Given the description of an element on the screen output the (x, y) to click on. 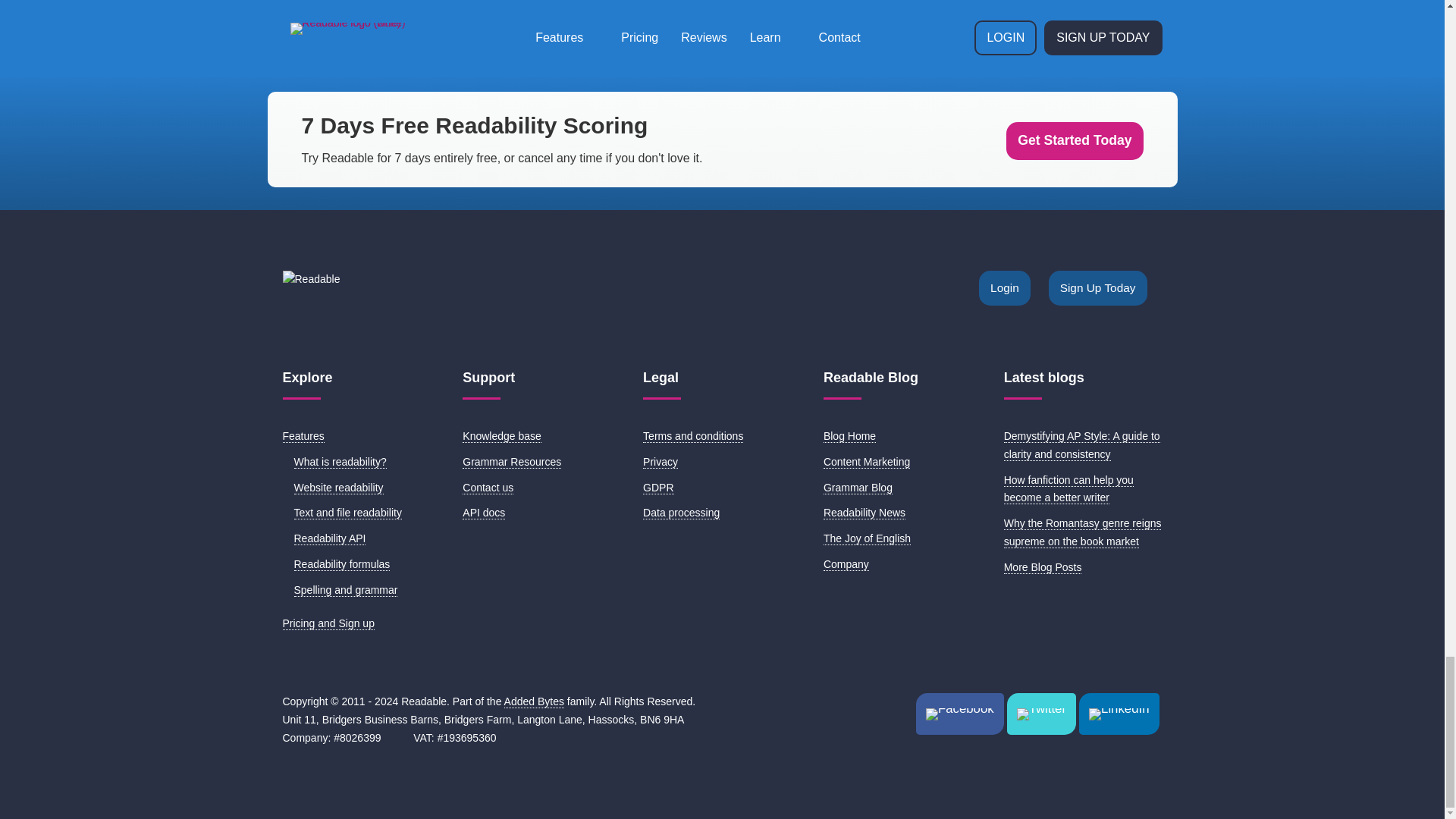
LinkedIn (1118, 713)
Twitter (1041, 713)
Facebook (959, 713)
